Given the description of an element on the screen output the (x, y) to click on. 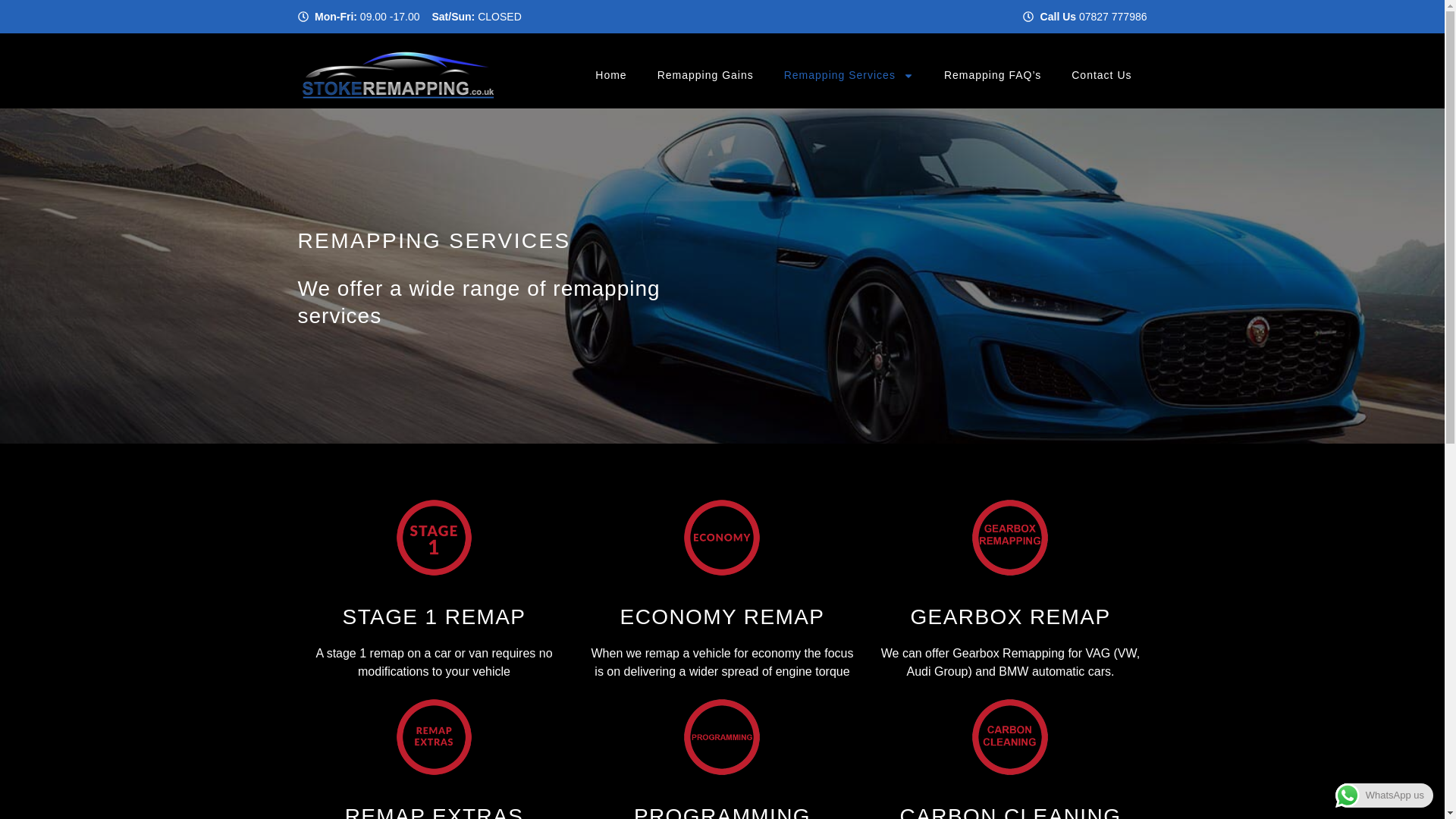
PROGRAMMING (721, 811)
REMAP EXTRAS (434, 811)
Remapping Gains (705, 74)
GEARBOX REMAP (1009, 616)
STAGE 1 REMAP (433, 616)
Call Us 07827 777986 (938, 16)
ECONOMY REMAP (722, 616)
Home (610, 74)
Contact Us (1102, 74)
CARBON CLEANING (1010, 811)
Remapping Services (848, 74)
